Given the description of an element on the screen output the (x, y) to click on. 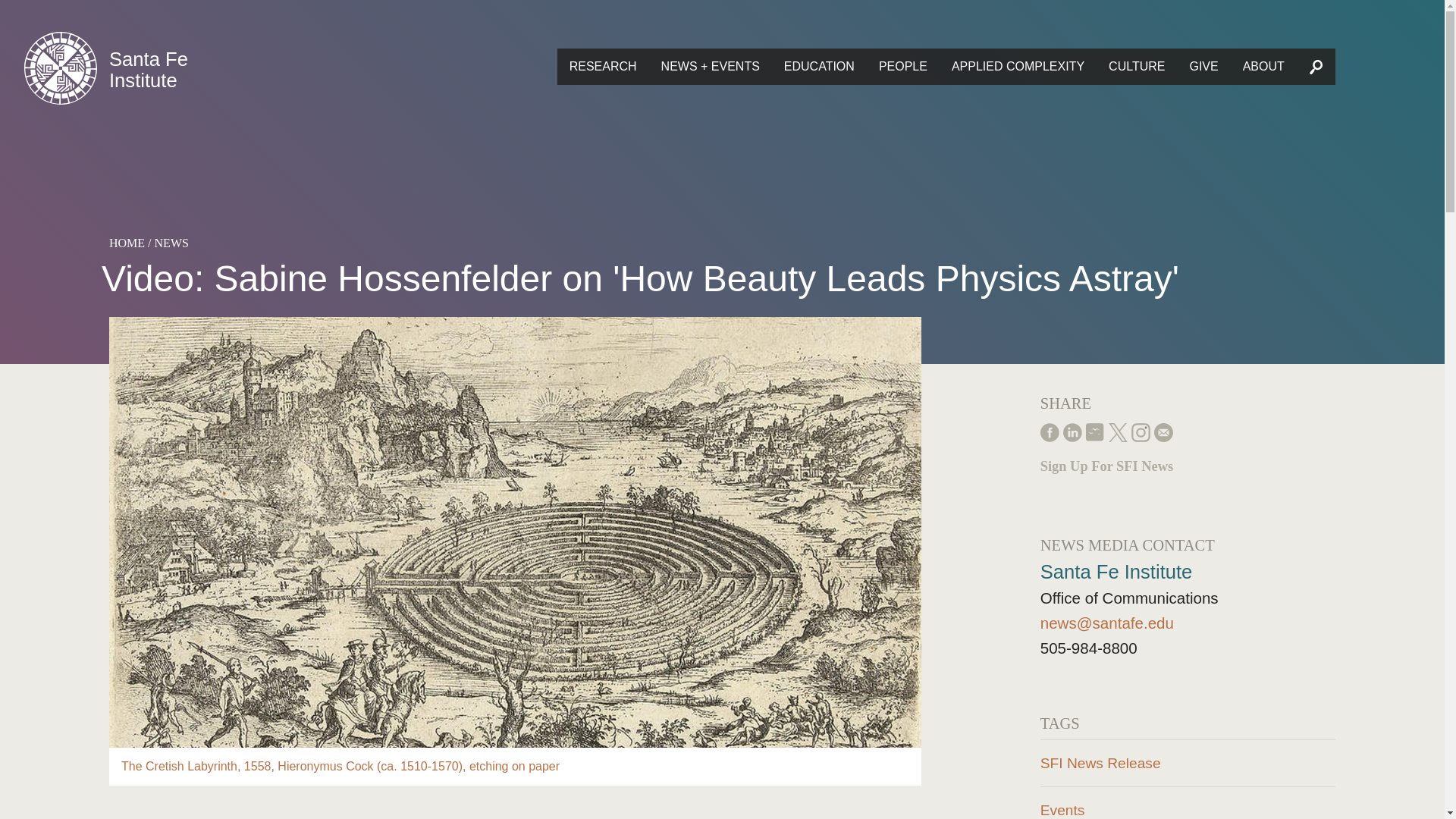
RESEARCH (603, 66)
EDUCATION (818, 66)
APPLIED COMPLEXITY (1017, 66)
PEOPLE (902, 66)
